Given the description of an element on the screen output the (x, y) to click on. 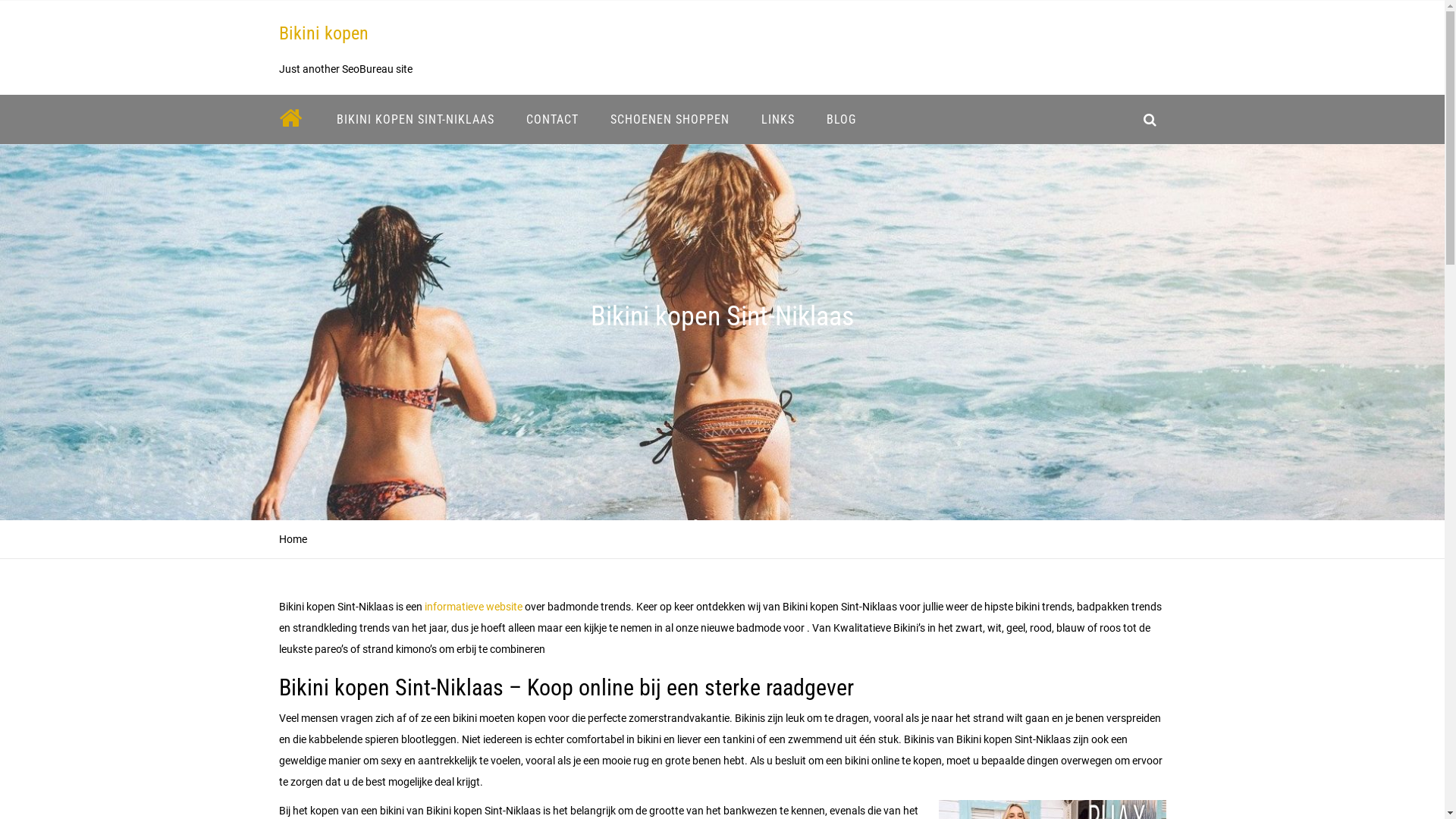
LINKS Element type: text (776, 119)
BLOG Element type: text (840, 119)
informatieve website Element type: text (473, 606)
SCHOENEN SHOPPEN Element type: text (669, 119)
search_icon Element type: hover (1148, 119)
CONTACT Element type: text (551, 119)
BIKINI KOPEN SINT-NIKLAAS Element type: text (414, 119)
Bikini kopen Element type: text (323, 32)
